Given the description of an element on the screen output the (x, y) to click on. 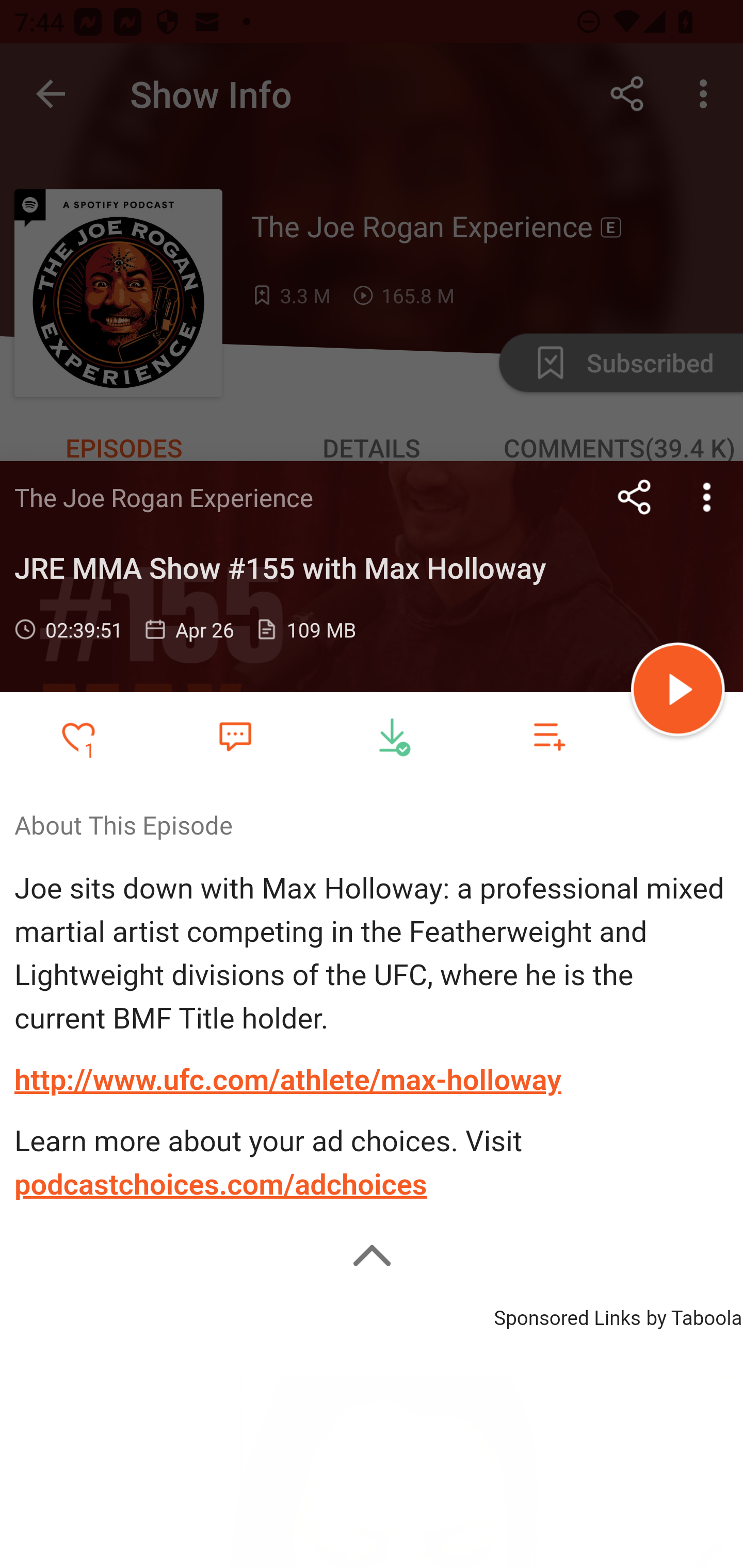
Share (634, 496)
more options (706, 496)
Play (677, 692)
Favorite (234, 735)
Add to Favorites (78, 735)
Downloaded (391, 735)
Add to playlist (548, 735)
http://www.ufc.com/athlete/max-holloway (287, 1079)
podcastchoices.com/adchoices (220, 1184)
Sponsored Links (566, 1314)
by Taboola (693, 1314)
